Given the description of an element on the screen output the (x, y) to click on. 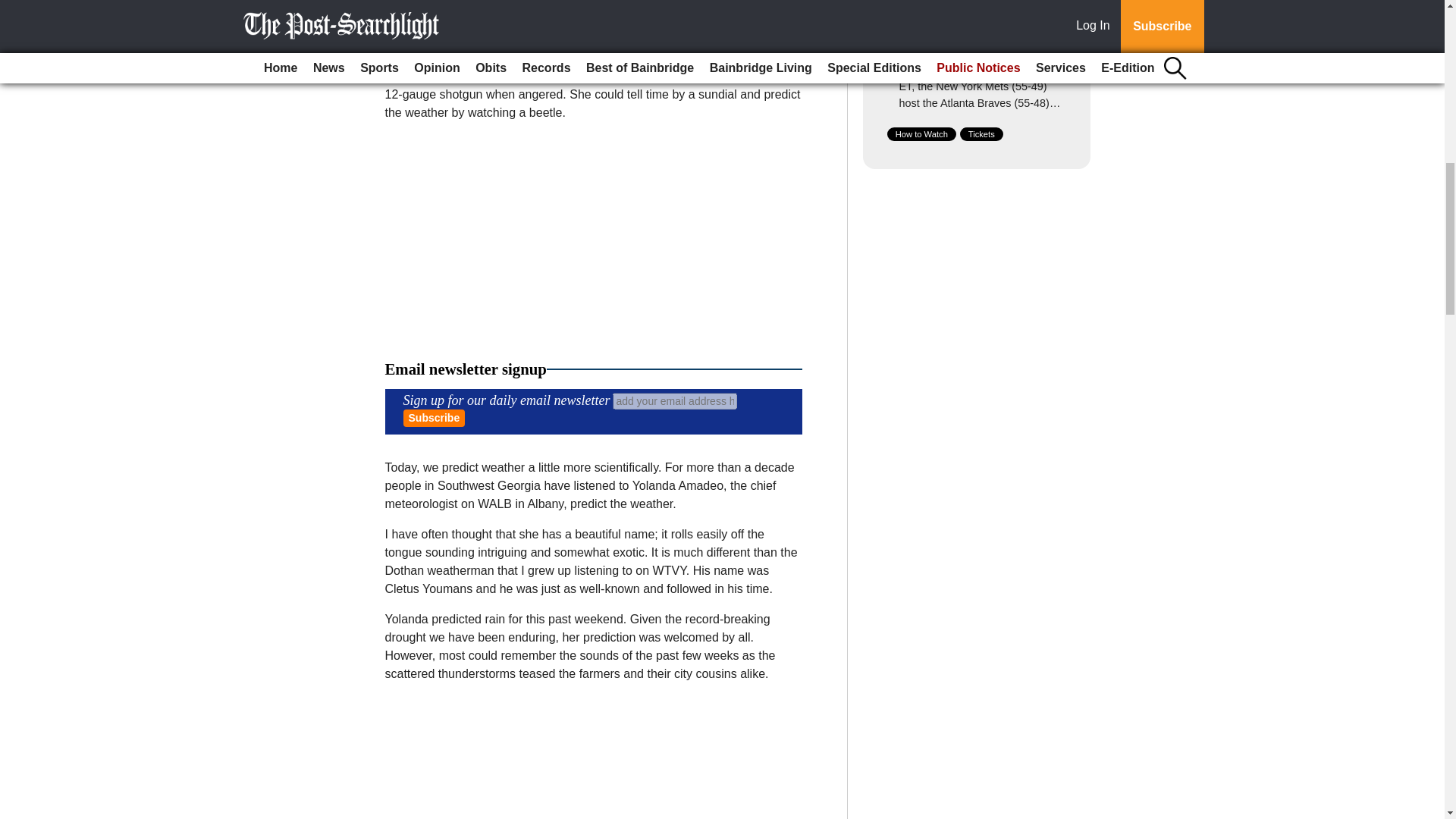
Subscribe (434, 417)
Subscribe (434, 417)
